Given the description of an element on the screen output the (x, y) to click on. 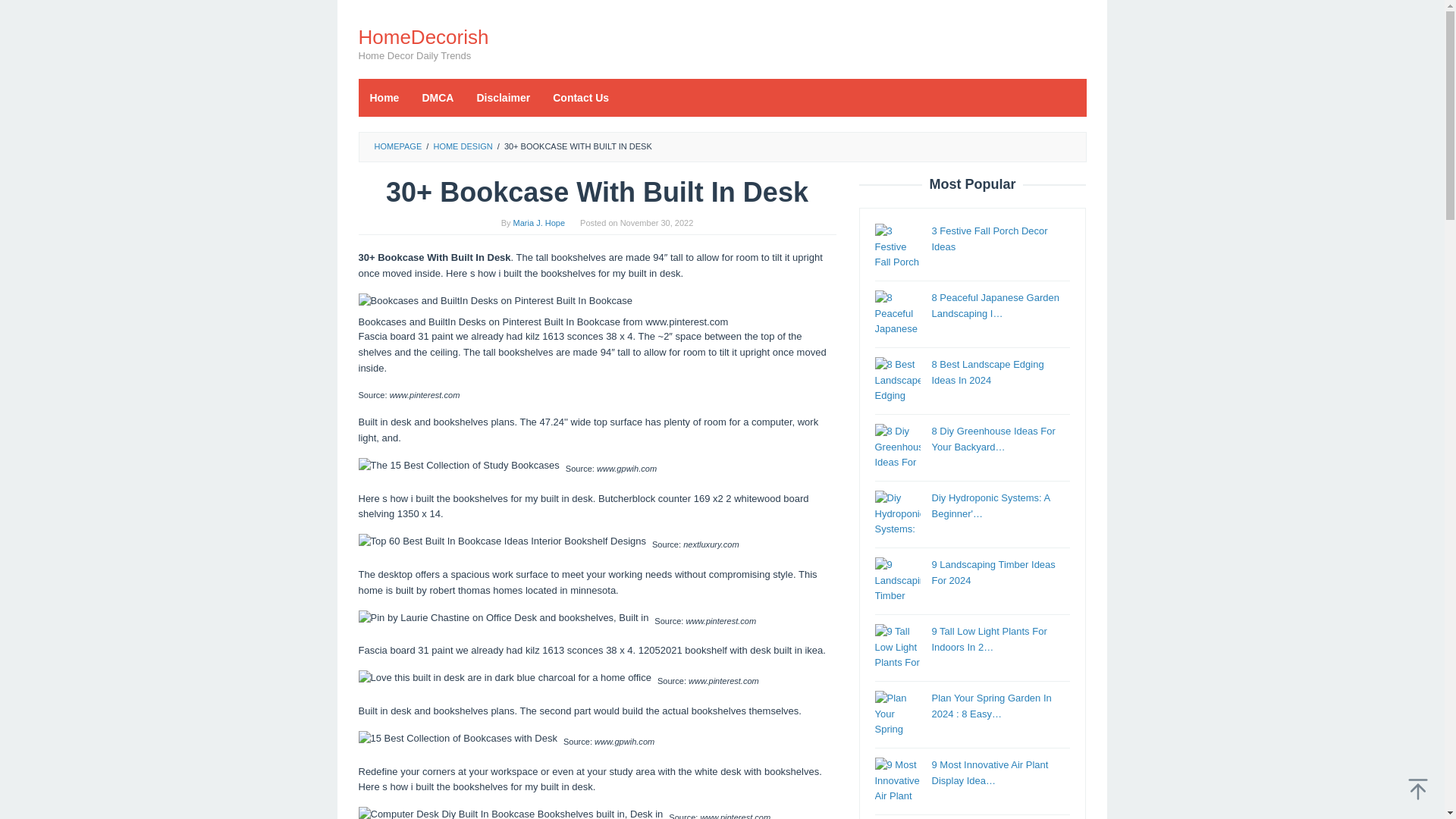
HOMEPAGE (398, 145)
Permalink to: Maria J. Hope (538, 222)
Maria J. Hope (538, 222)
HomeDecorish (422, 36)
9 Landscaping Timber Ideas For 2024 (992, 572)
Disclaimer (502, 97)
Home (384, 97)
3 Festive Fall Porch Decor Ideas (988, 238)
HomeDecorish (422, 36)
8 Best Landscape Edging Ideas In 2024 (987, 371)
